Given the description of an element on the screen output the (x, y) to click on. 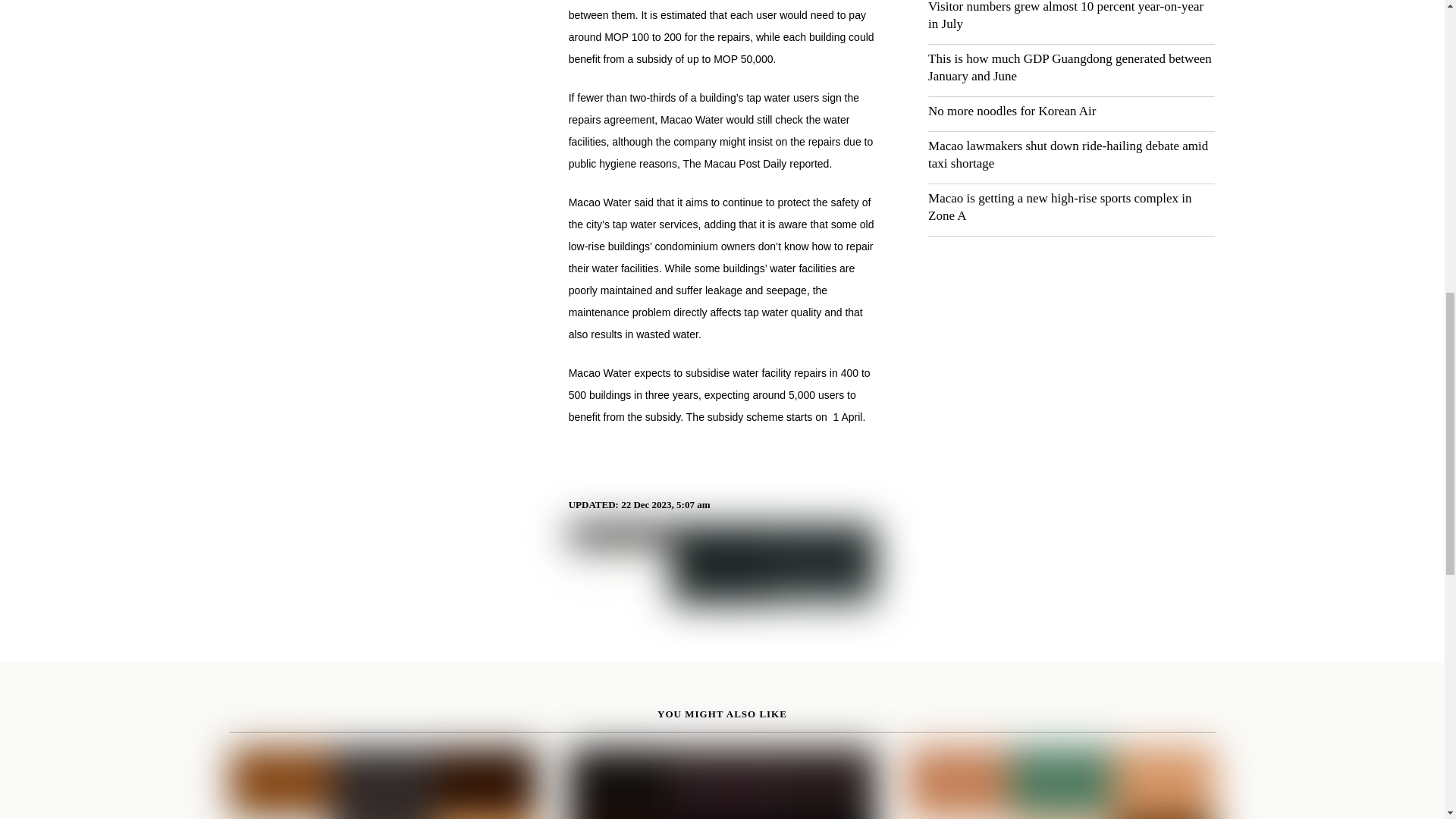
the tea Banner desktop (722, 564)
